Given the description of an element on the screen output the (x, y) to click on. 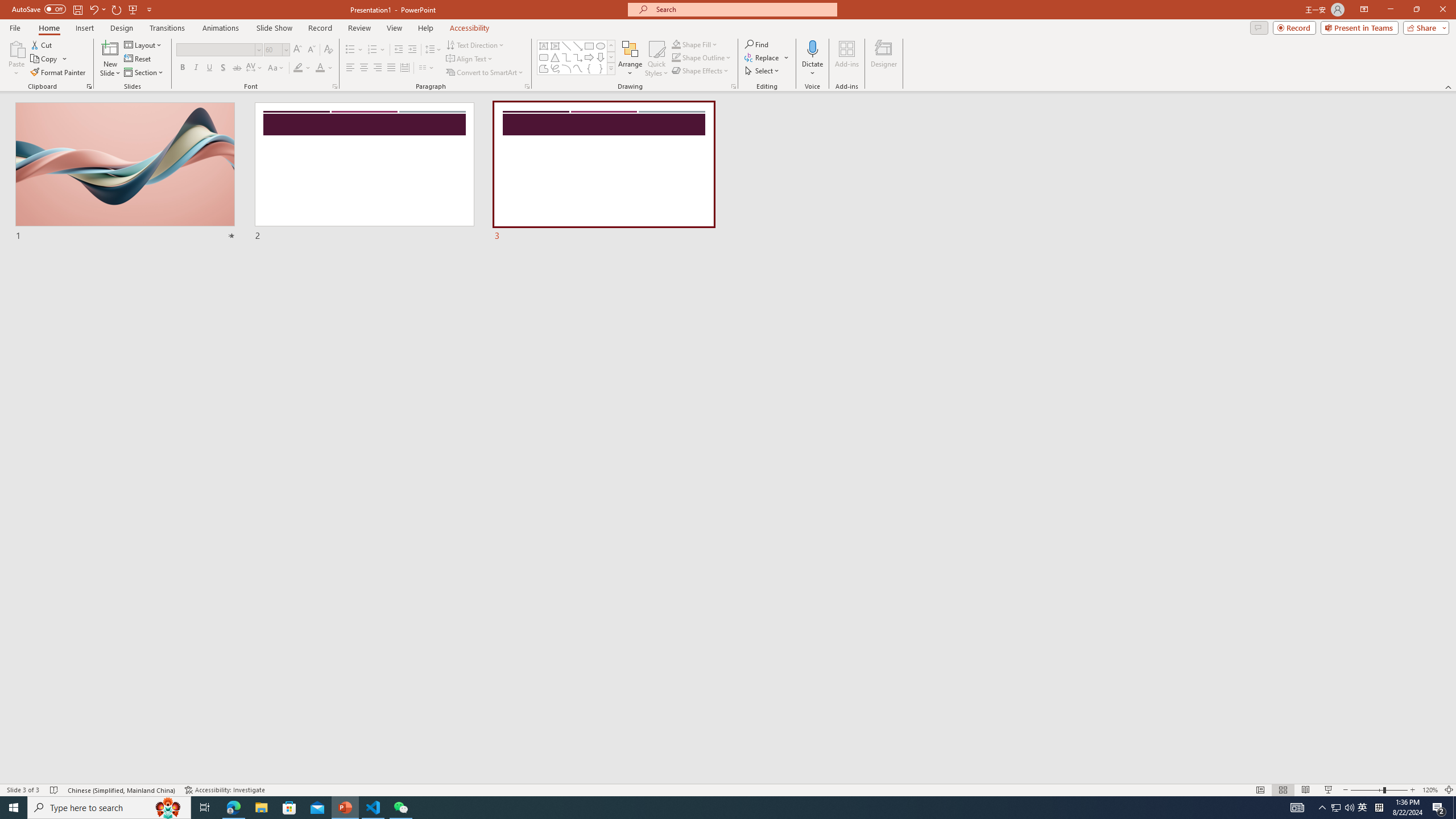
Shape Outline Blue, Accent 1 (675, 56)
